Given the description of an element on the screen output the (x, y) to click on. 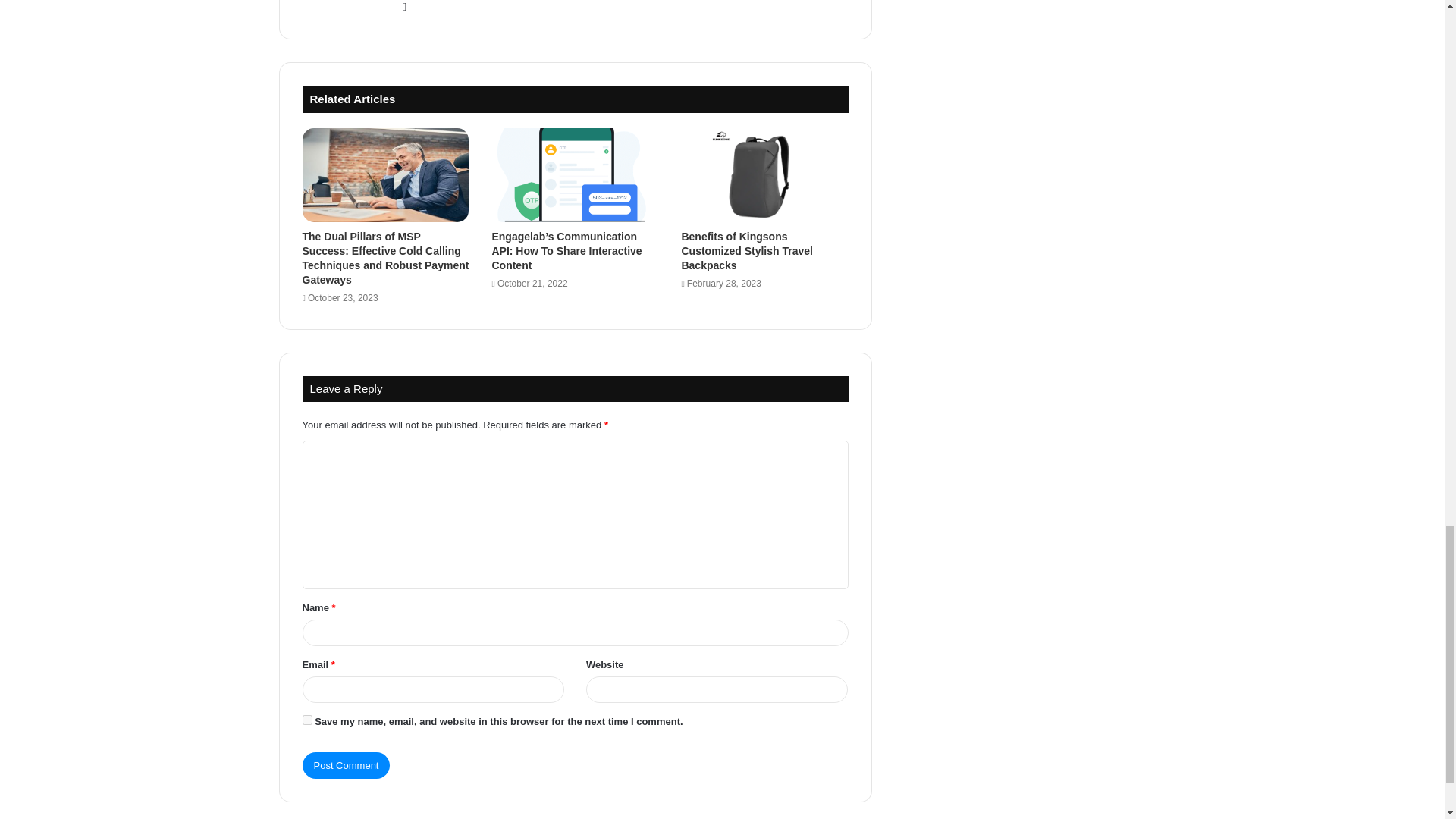
Post Comment (345, 765)
yes (306, 719)
Website (403, 7)
